Given the description of an element on the screen output the (x, y) to click on. 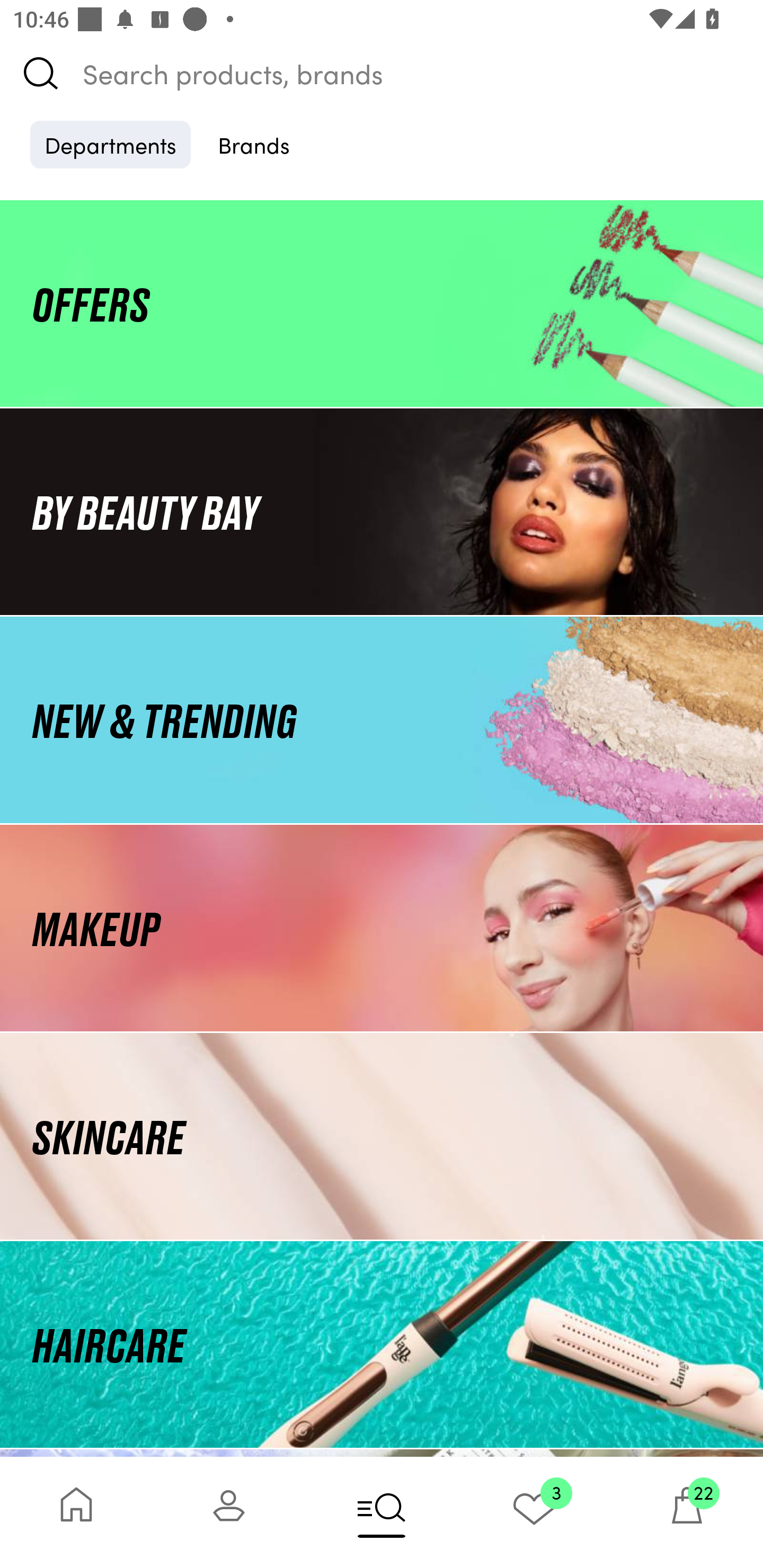
Search products, brands (381, 72)
Departments (110, 143)
Brands (253, 143)
OFFERS (381, 303)
BY BEAUTY BAY (381, 510)
NEW & TRENDING (381, 719)
MAKEUP (381, 927)
SKINCARE (381, 1136)
HAIRCARE (381, 1344)
3 (533, 1512)
22 (686, 1512)
